Given the description of an element on the screen output the (x, y) to click on. 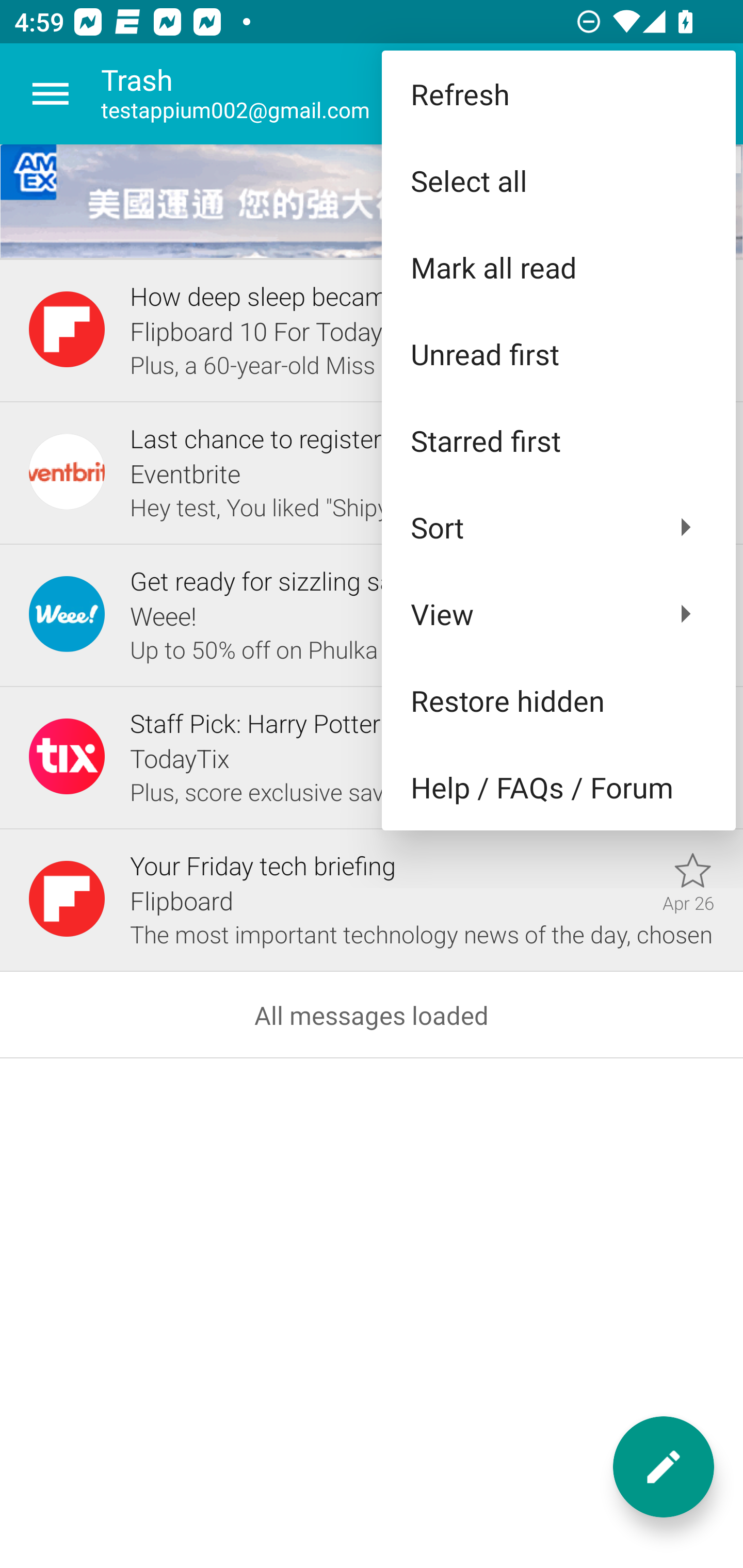
Refresh (558, 93)
Select all (558, 180)
Mark all read (558, 267)
Unread first (558, 353)
Starred first (558, 440)
Sort (558, 527)
View (558, 613)
Restore hidden (558, 699)
Help / FAQs / Forum (558, 787)
